Given the description of an element on the screen output the (x, y) to click on. 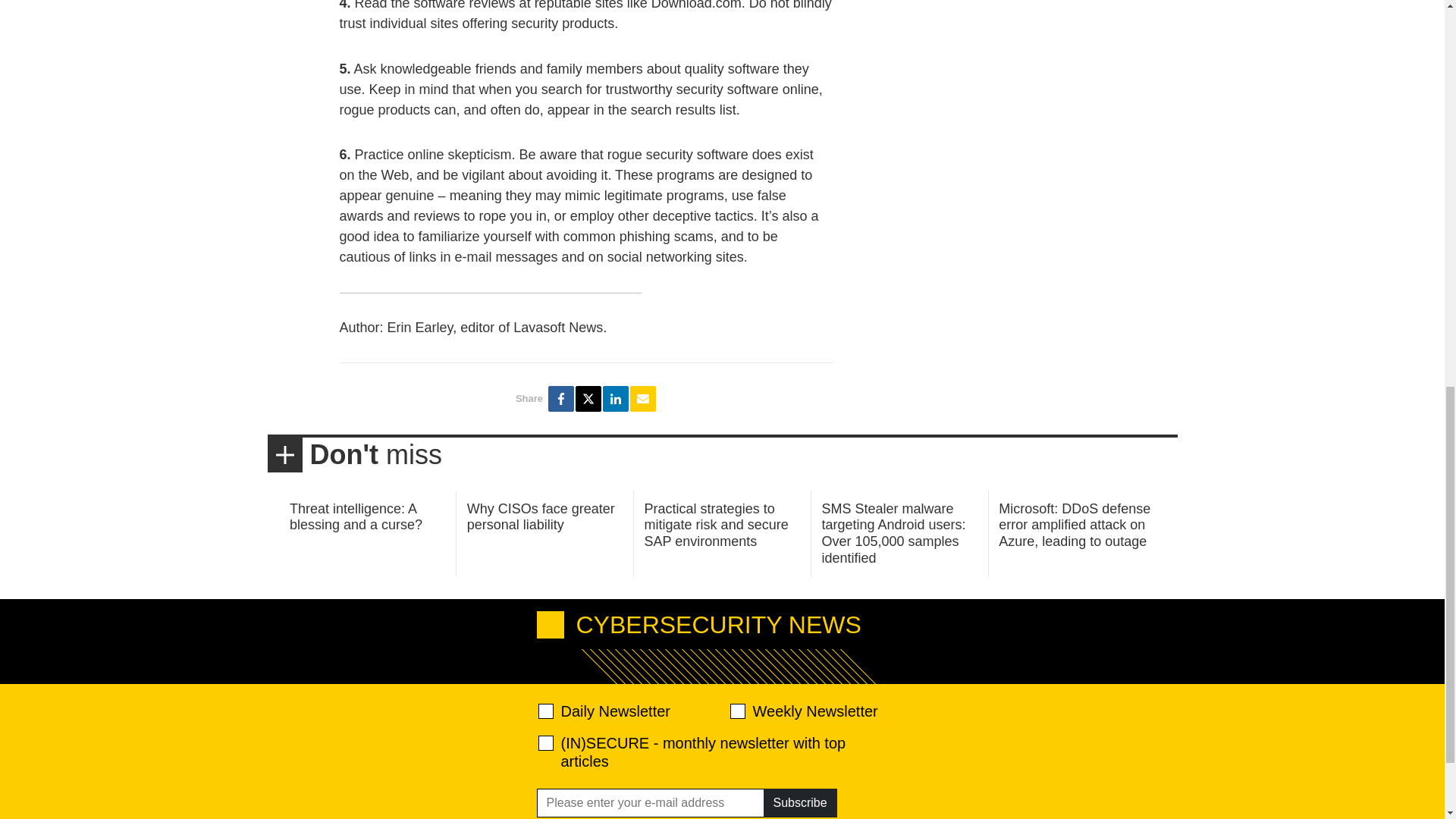
Share How to avoid rogue security software on LinkedIn (615, 398)
d2d471aafa (736, 711)
Share How to avoid rogue security software on Twitter (588, 398)
Threat intelligence: A blessing and a curse? (355, 517)
Why CISOs face greater personal liability (540, 517)
28abe5d9ef (545, 743)
520ac2f639 (545, 711)
Share How to avoid rogue security software on Facebook (560, 398)
Share How to avoid rogue security software via E-mail (643, 398)
